Given the description of an element on the screen output the (x, y) to click on. 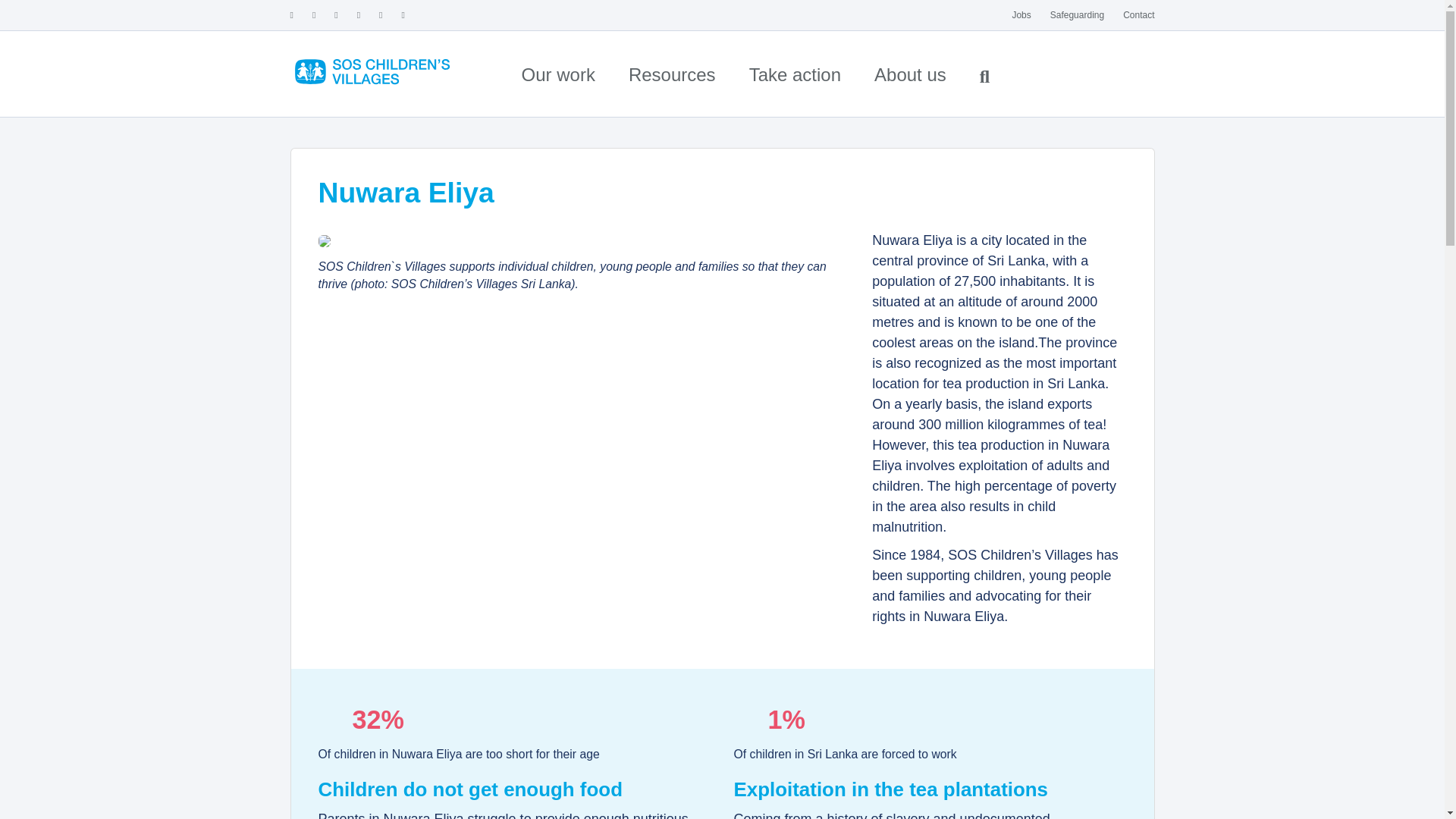
Contact (1138, 15)
About us (910, 74)
Take action (795, 74)
Resources (672, 74)
Our work (558, 74)
Safeguarding (1076, 15)
Our work (558, 74)
